Given the description of an element on the screen output the (x, y) to click on. 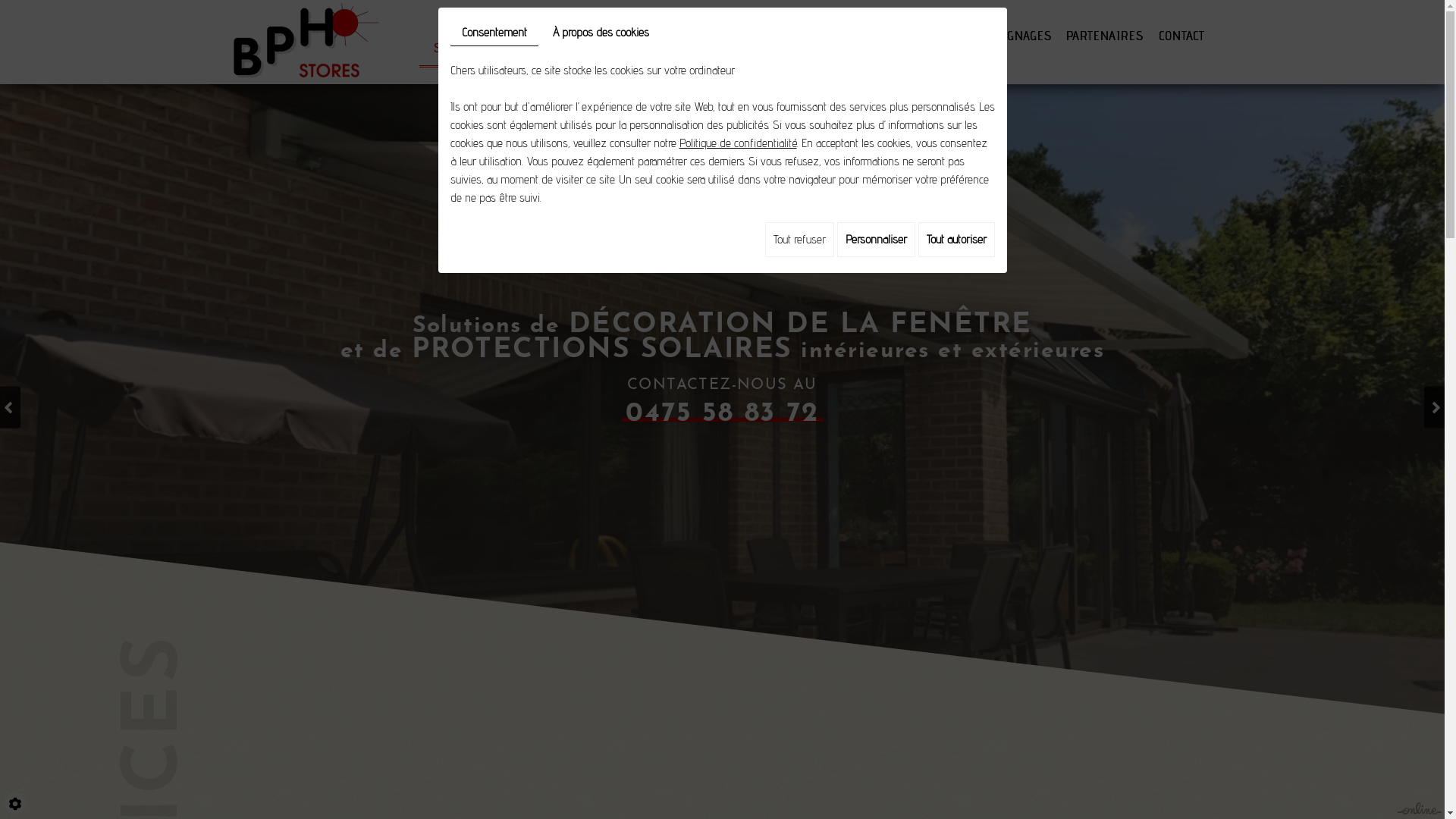
MOTORISATION/ AUTOMATISATION Element type: text (804, 41)
Tout refuser Element type: text (798, 239)
CONTACT Element type: text (1181, 41)
Tout autoriser Element type: text (955, 239)
Consentement Element type: text (494, 32)
PARTENAIRES Element type: text (1105, 41)
CONTACTEZ-NOUS AU
0475 58 83 72 Element type: text (722, 400)
Personnaliser Element type: text (876, 239)
